Given the description of an element on the screen output the (x, y) to click on. 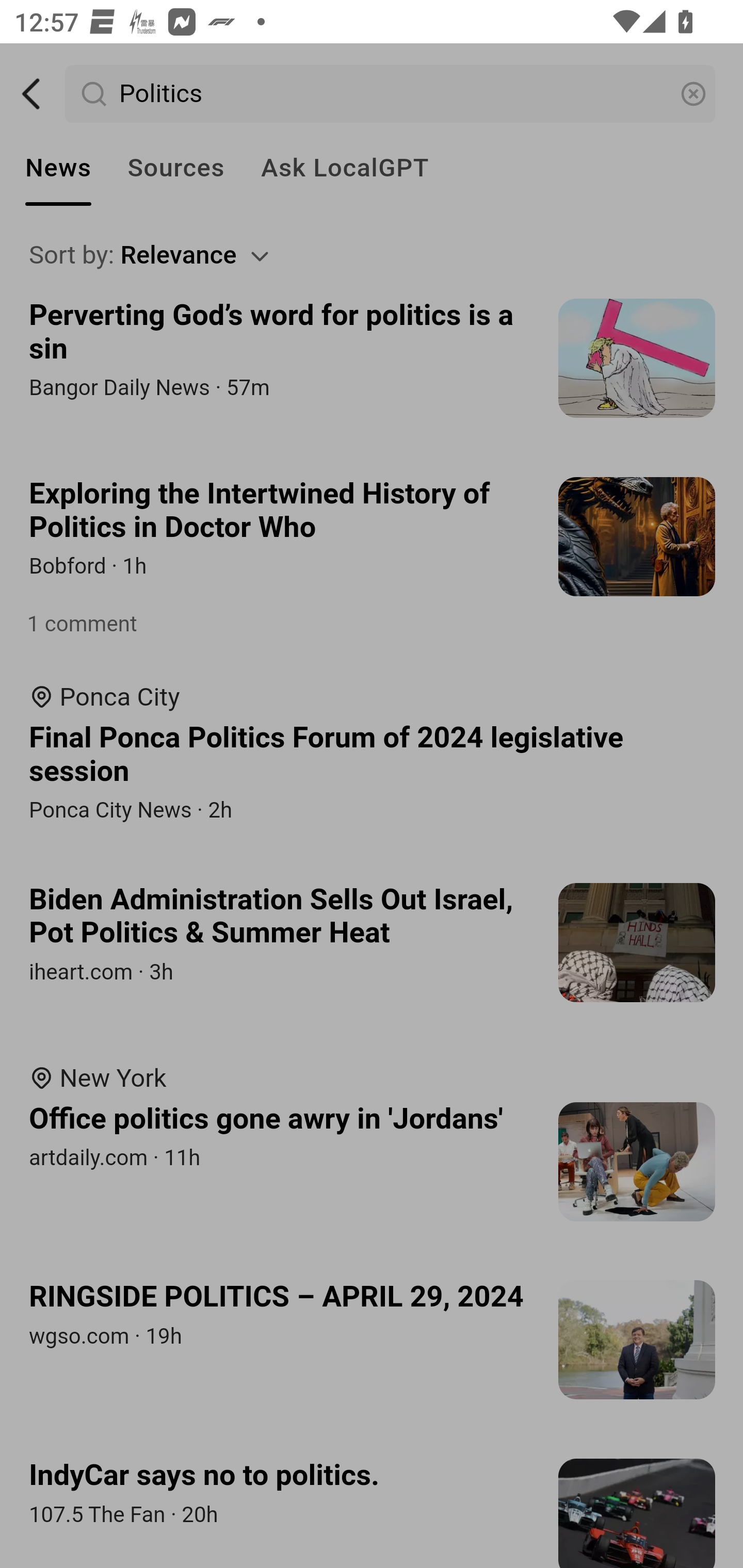
Politics (390, 93)
News (58, 168)
Sources (175, 168)
Ask LocalGPT (344, 168)
Sort by:  Relevance (372, 254)
